Given the description of an element on the screen output the (x, y) to click on. 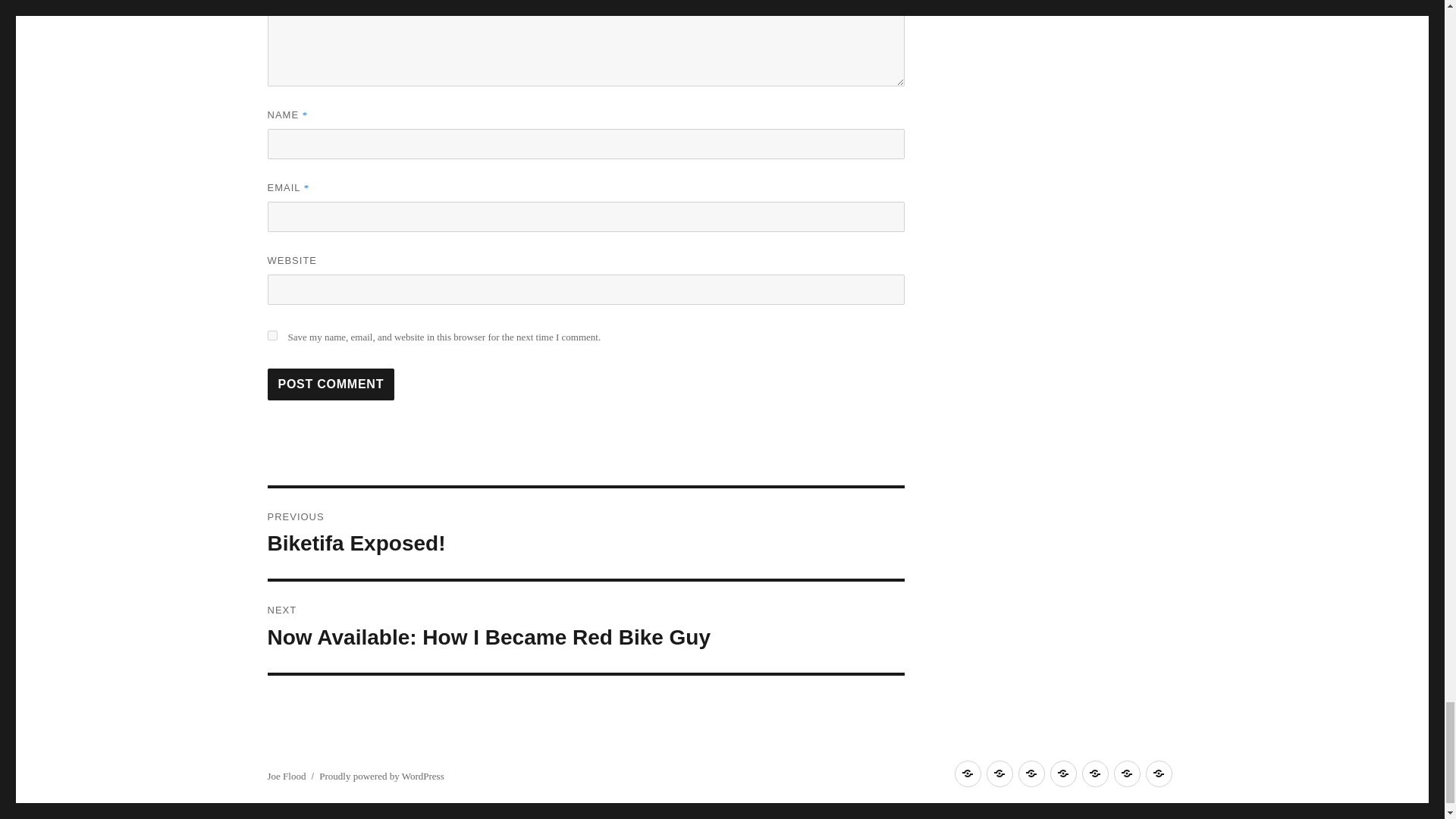
yes (271, 335)
Post Comment (330, 384)
